Given the description of an element on the screen output the (x, y) to click on. 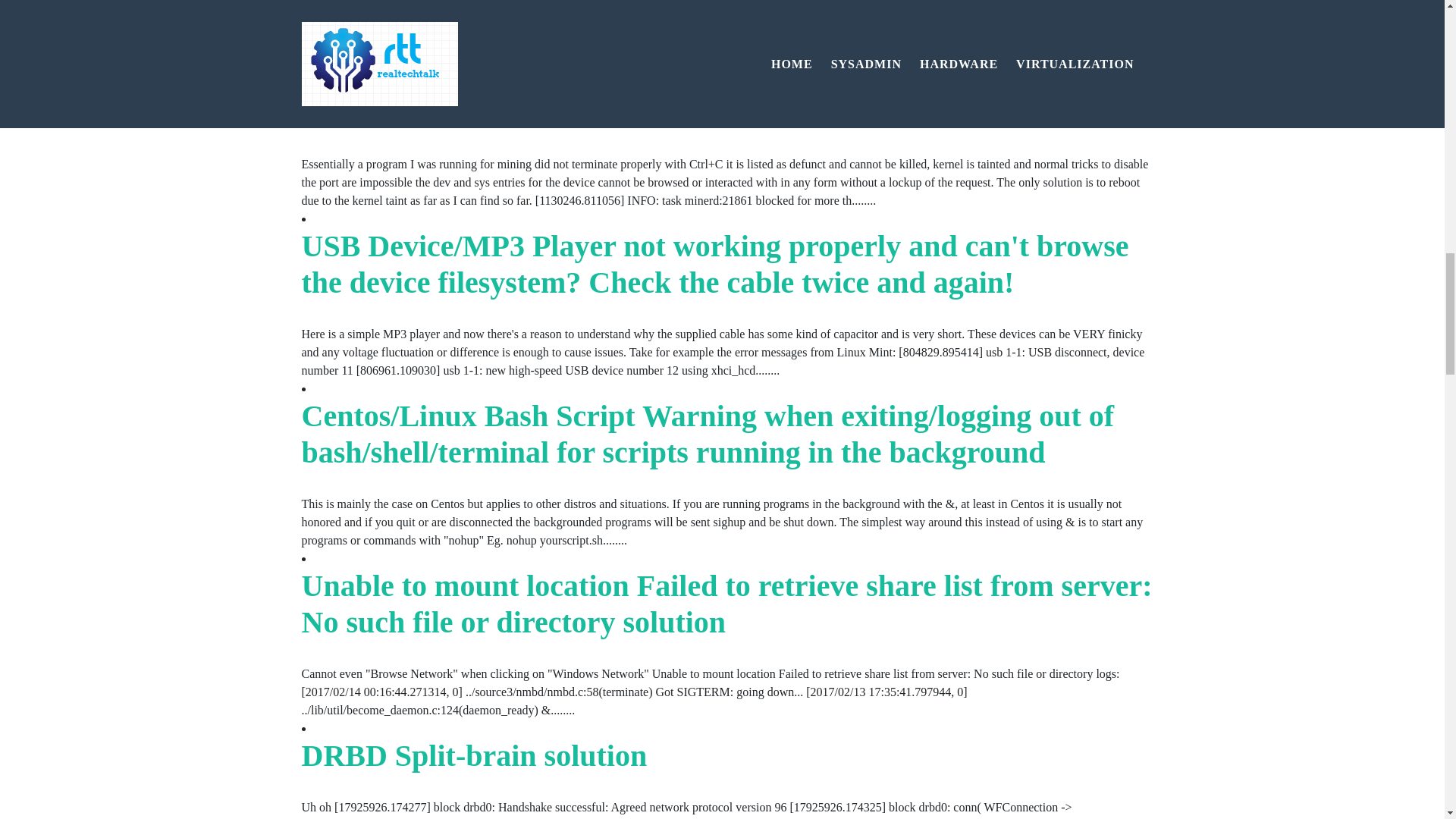
DRBD Split-brain solution (474, 755)
Ethereum Mining Claymore Nanopool Error (592, 7)
